Given the description of an element on the screen output the (x, y) to click on. 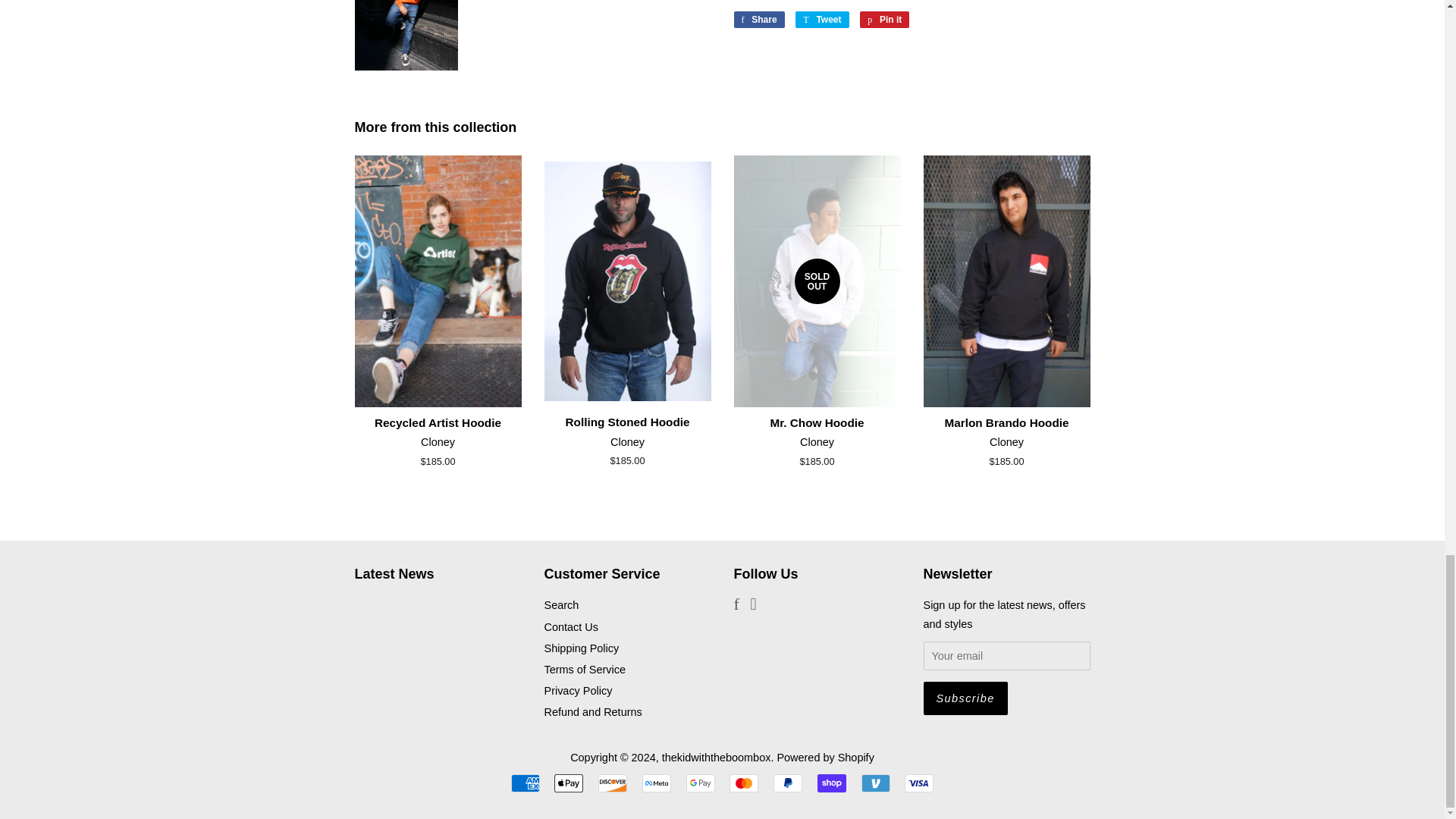
American Express (525, 782)
Subscribe (965, 697)
Discover (612, 782)
Apple Pay (568, 782)
Share on Facebook (758, 19)
PayPal (787, 782)
Venmo (875, 782)
Shop Pay (830, 782)
Pin on Pinterest (884, 19)
Tweet on Twitter (821, 19)
Mastercard (743, 782)
Google Pay (699, 782)
Meta Pay (656, 782)
Visa (918, 782)
